Given the description of an element on the screen output the (x, y) to click on. 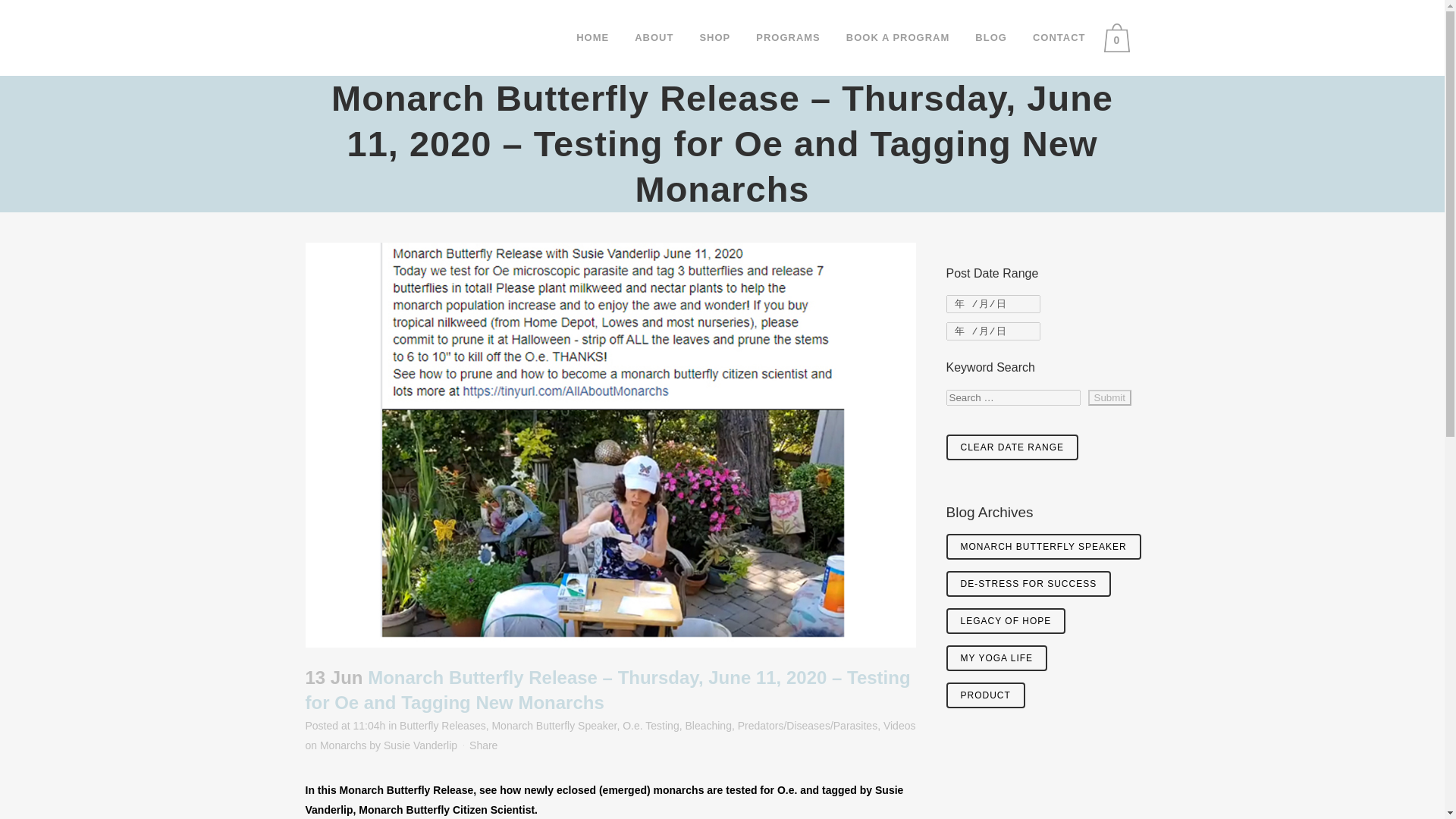
PROGRAMS (787, 38)
BOOK A PROGRAM (897, 38)
Submit (1109, 397)
CONTACT (1059, 38)
0 (1120, 37)
